Given the description of an element on the screen output the (x, y) to click on. 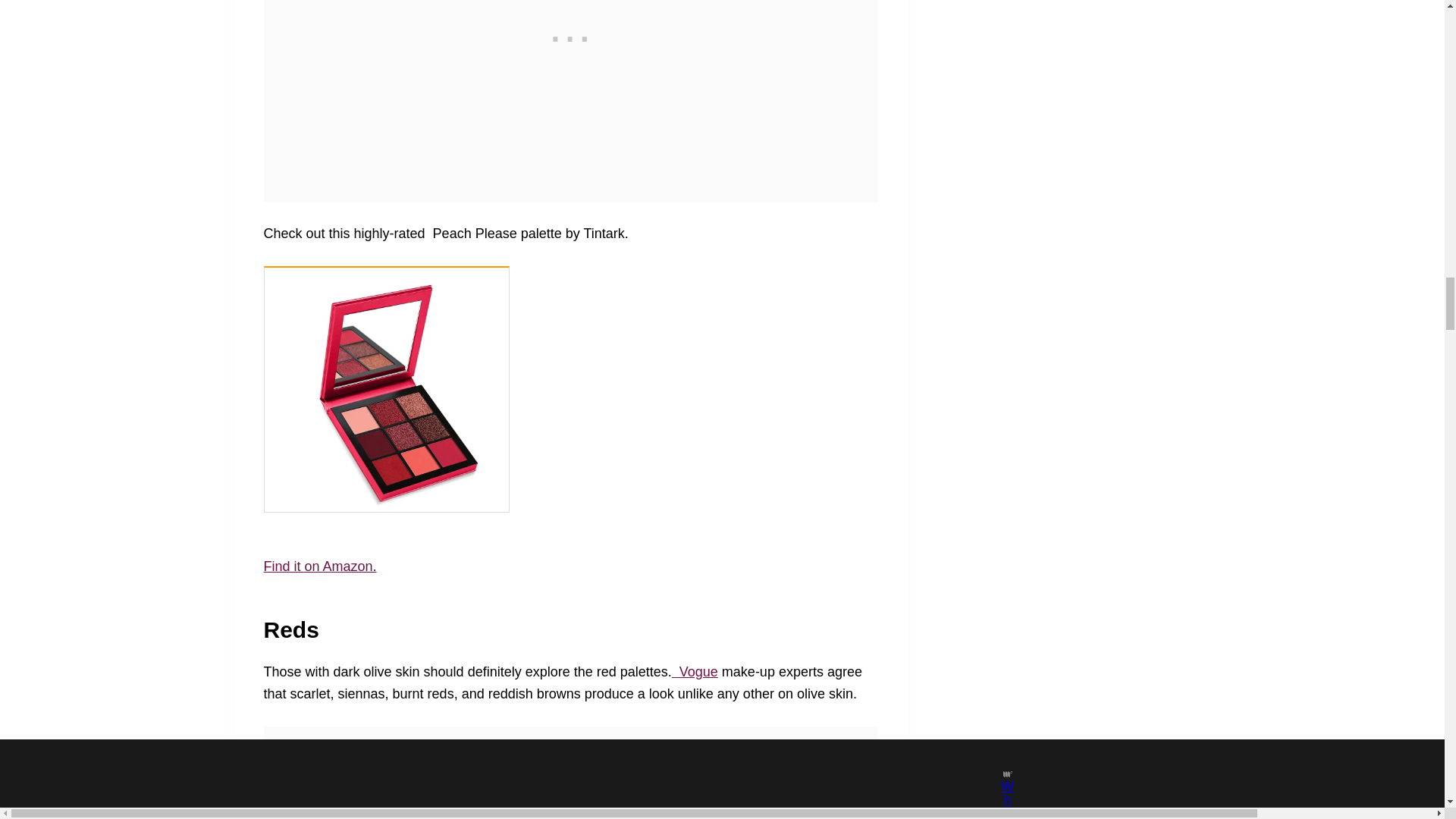
Find it on Amazon. (320, 566)
